Given the description of an element on the screen output the (x, y) to click on. 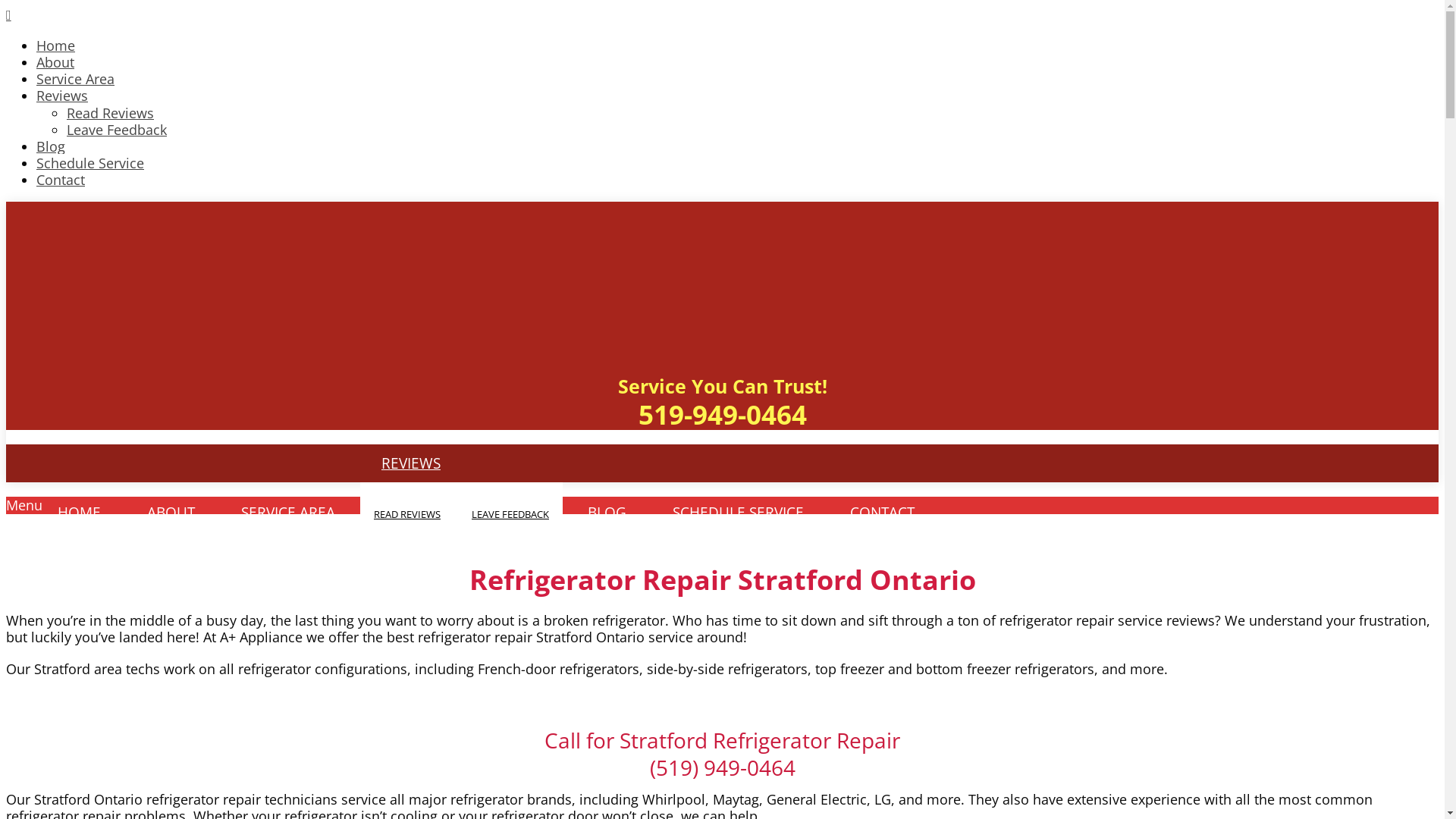
SERVICE AREA Element type: text (287, 512)
ABOUT Element type: text (170, 512)
CONTACT Element type: text (881, 512)
BLOG Element type: text (606, 512)
SCHEDULE SERVICE Element type: text (738, 512)
About Element type: text (55, 62)
A+ Appliance Repair Service Element type: hover (119, 277)
REVIEWS Element type: text (410, 463)
Read Reviews Element type: text (109, 112)
Blog Element type: text (50, 146)
Schedule Service Element type: text (90, 162)
Reviews Element type: text (61, 95)
A+ Appliance Repair Service Element type: hover (119, 329)
Home Element type: text (55, 45)
READ REVIEWS Element type: text (407, 513)
Leave Feedback Element type: text (116, 129)
LEAVE FEEDBACK Element type: text (510, 513)
HOME Element type: text (79, 512)
Service Area Element type: text (75, 78)
Contact Element type: text (60, 179)
